Given the description of an element on the screen output the (x, y) to click on. 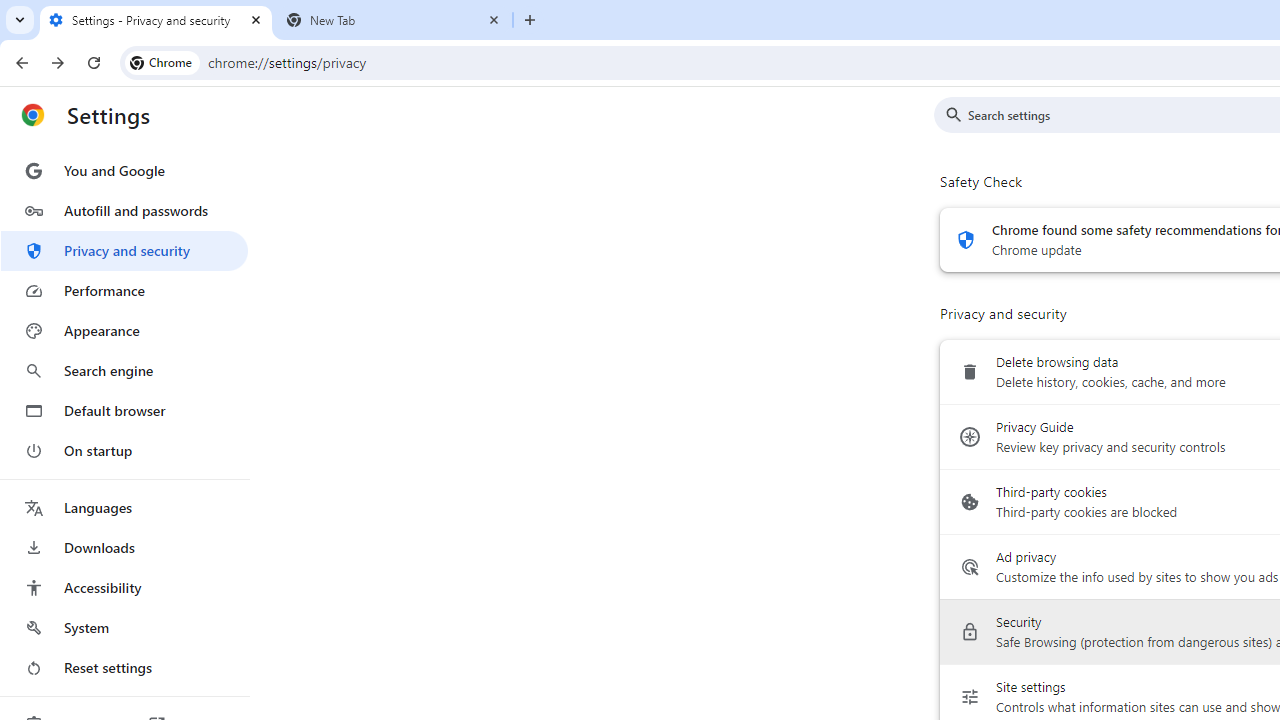
Appearance (124, 331)
Downloads (124, 547)
On startup (124, 450)
You and Google (124, 170)
Autofill and passwords (124, 210)
Reset settings (124, 668)
New Tab (394, 20)
Privacy and security (124, 250)
Default browser (124, 410)
